Given the description of an element on the screen output the (x, y) to click on. 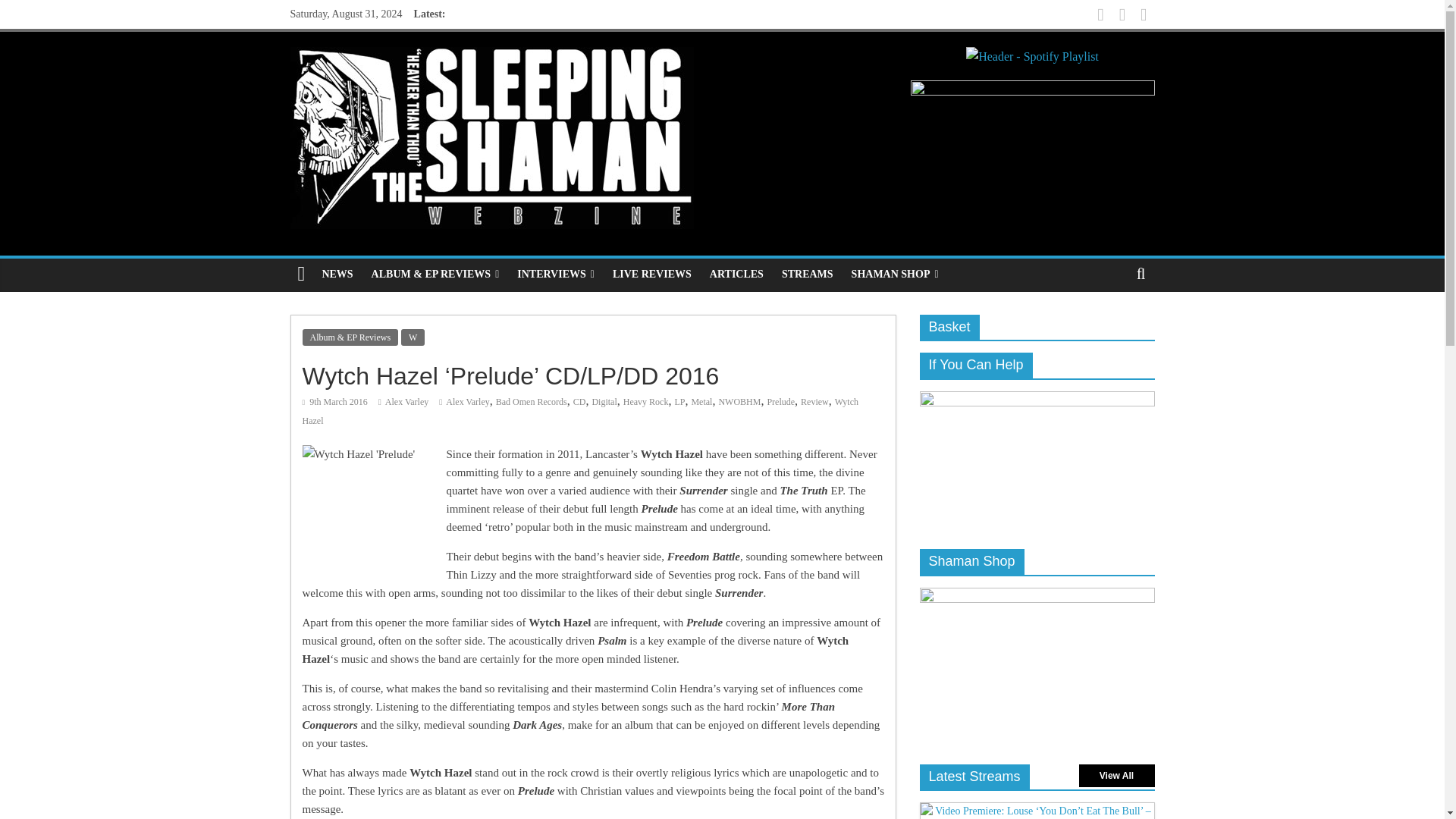
7:13 pm (333, 401)
NEWS (337, 274)
Alex Varley (406, 401)
